Given the description of an element on the screen output the (x, y) to click on. 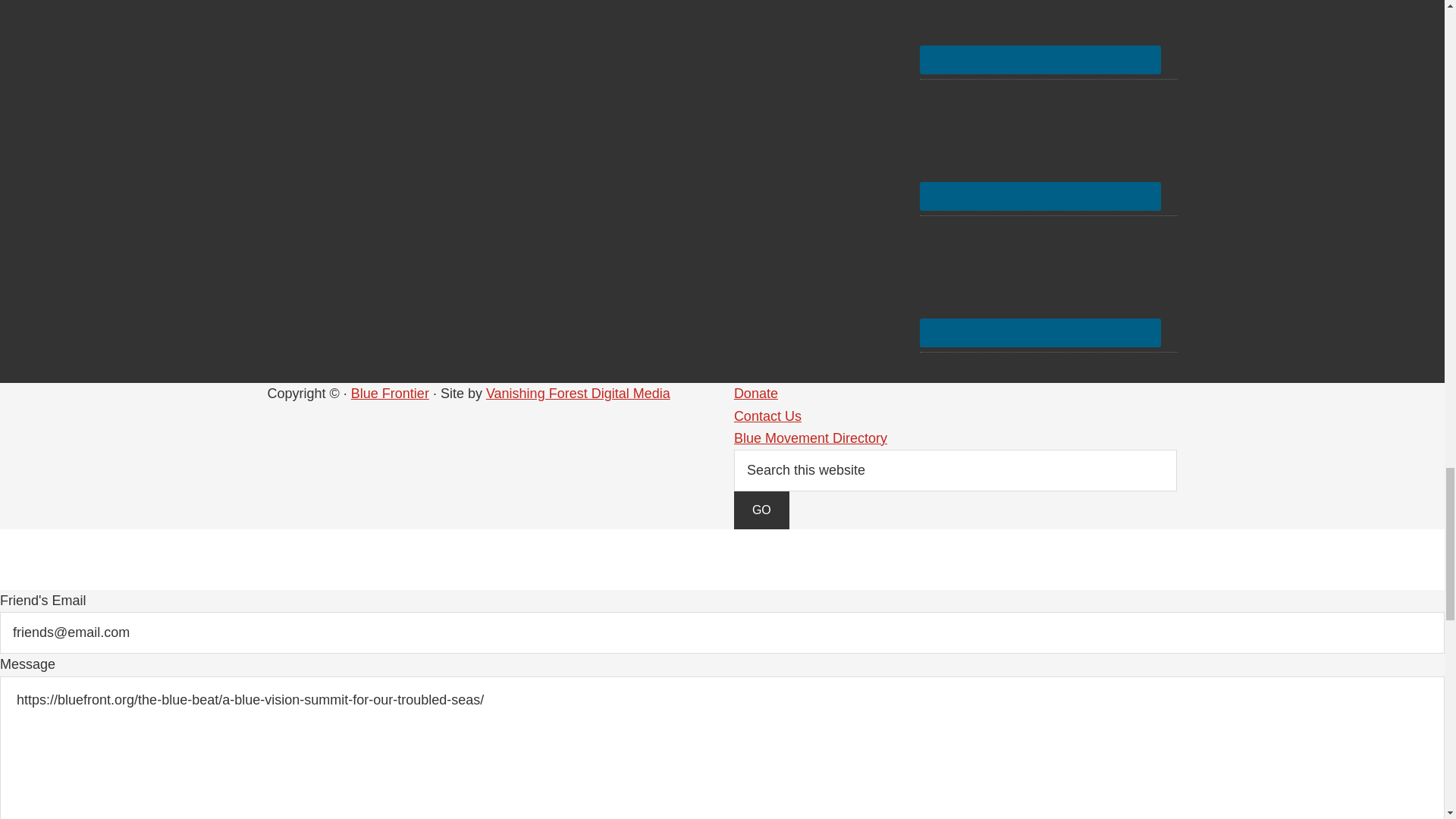
YouTube (1040, 280)
Go (761, 510)
Vanishing Forest Digital Media (577, 393)
Go (761, 510)
Twitter (1040, 143)
RSS (1040, 32)
